Given the description of an element on the screen output the (x, y) to click on. 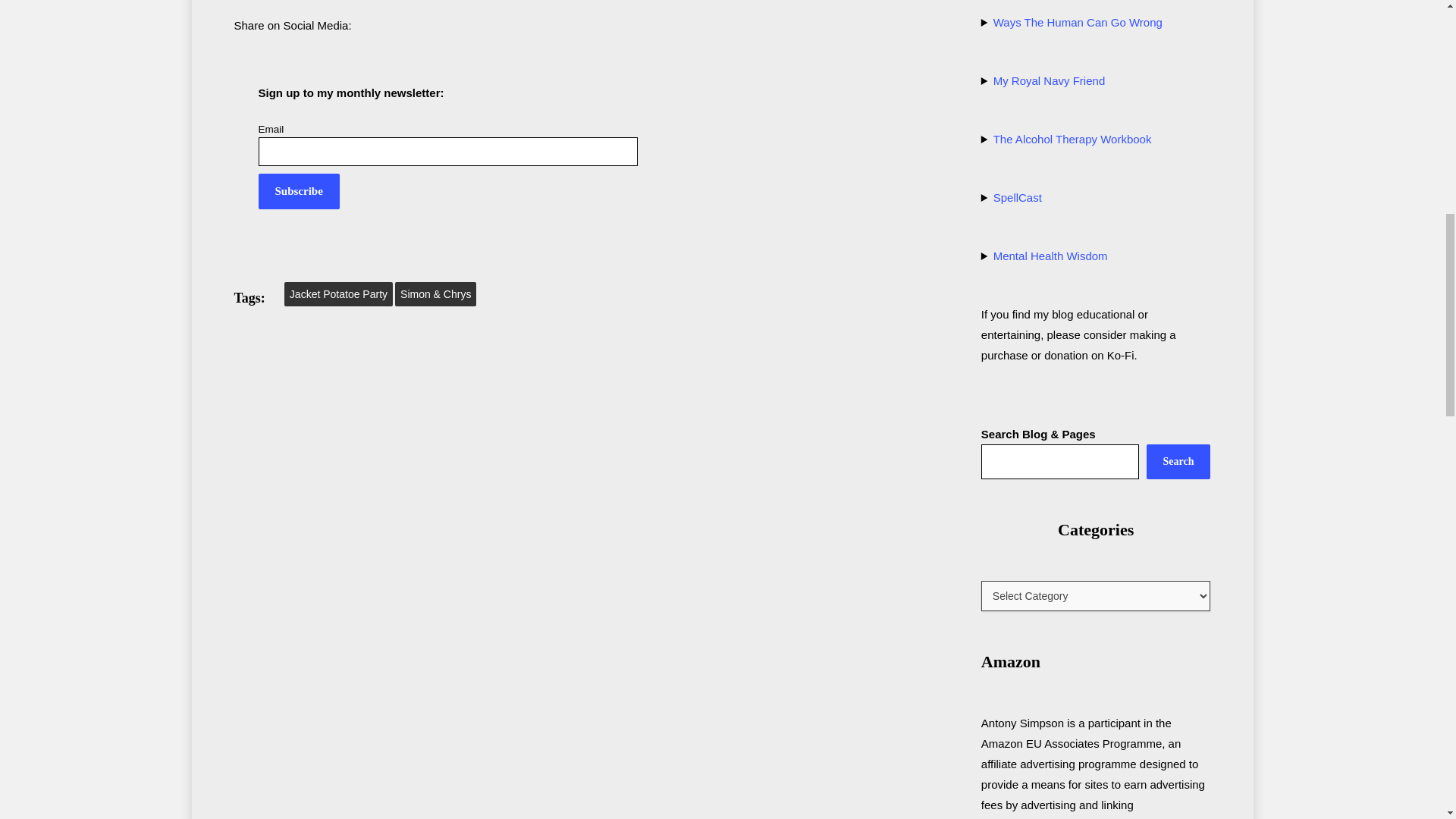
Subscribe (298, 191)
